Given the description of an element on the screen output the (x, y) to click on. 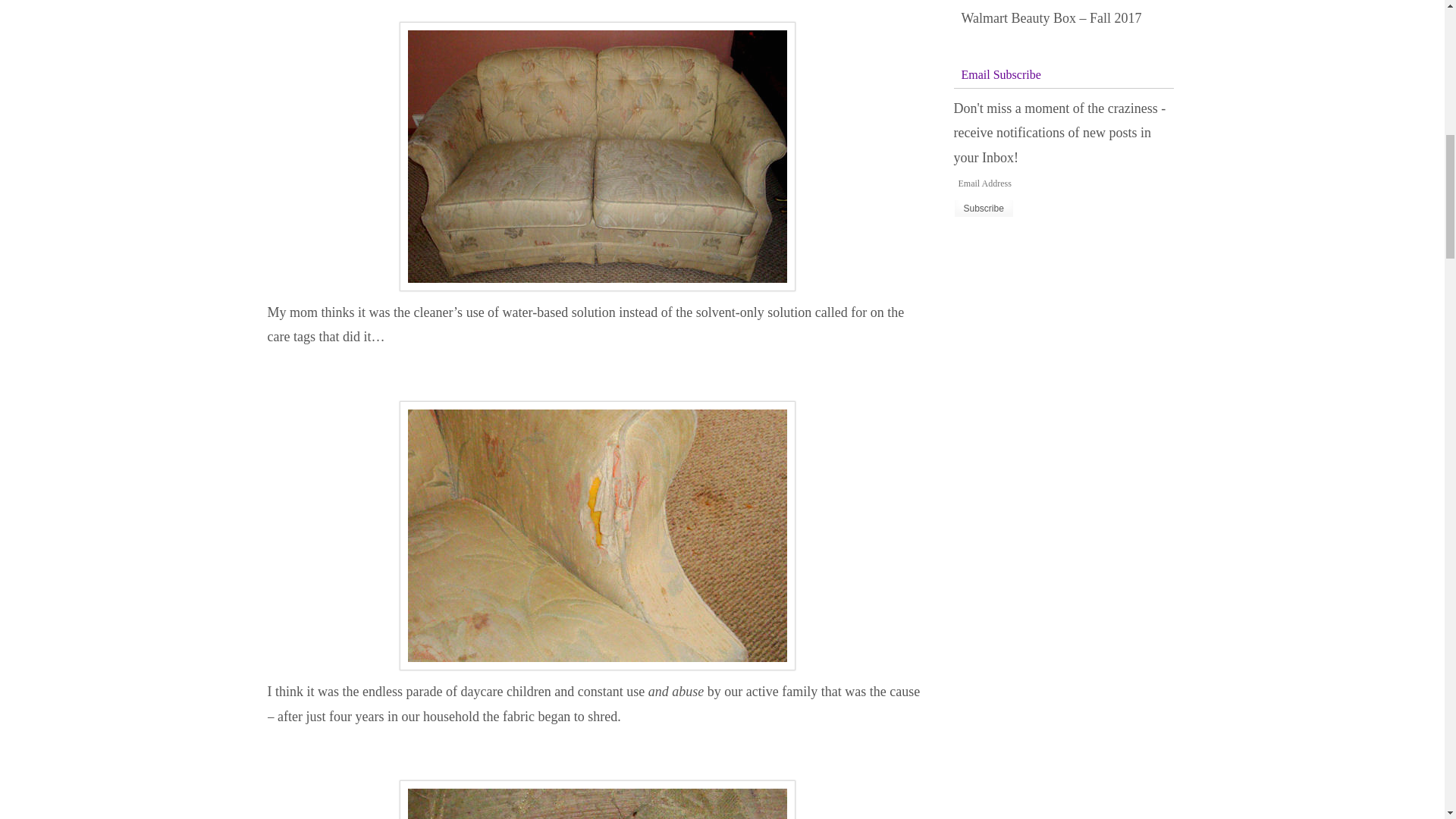
Subscribe (983, 208)
